Given the description of an element on the screen output the (x, y) to click on. 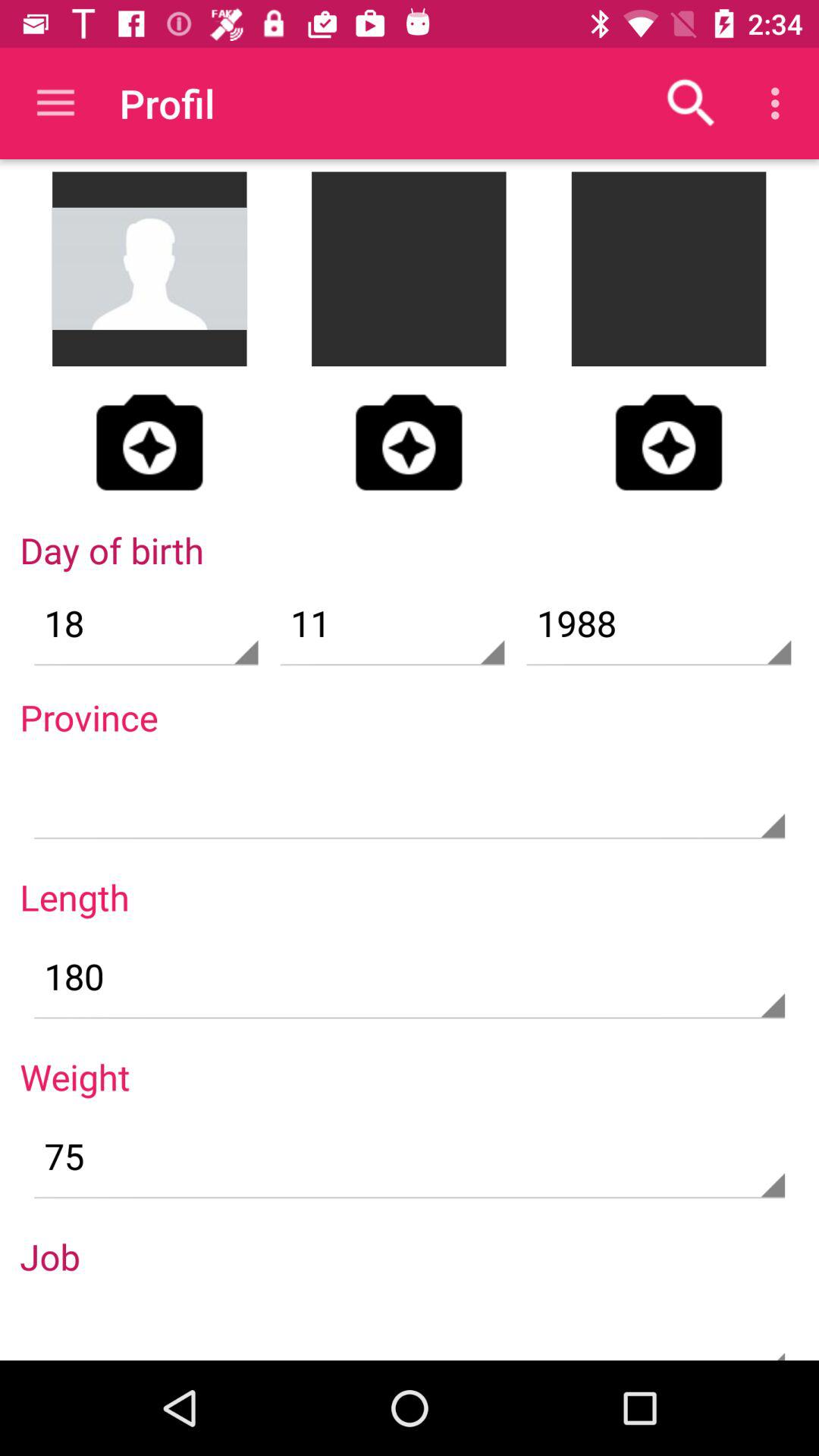
add profile (668, 442)
